Given the description of an element on the screen output the (x, y) to click on. 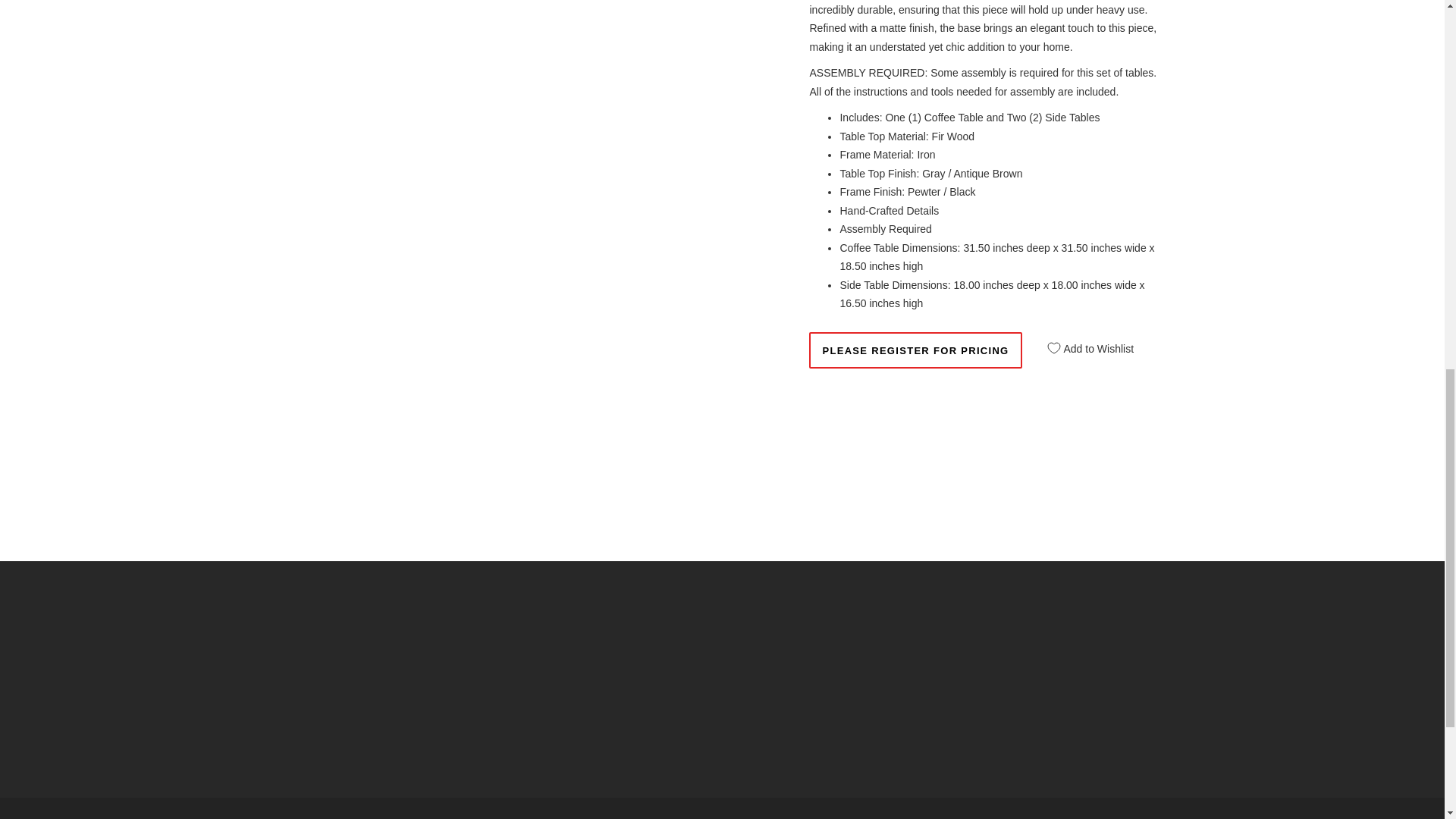
Add to Wishlist (1085, 343)
